Given the description of an element on the screen output the (x, y) to click on. 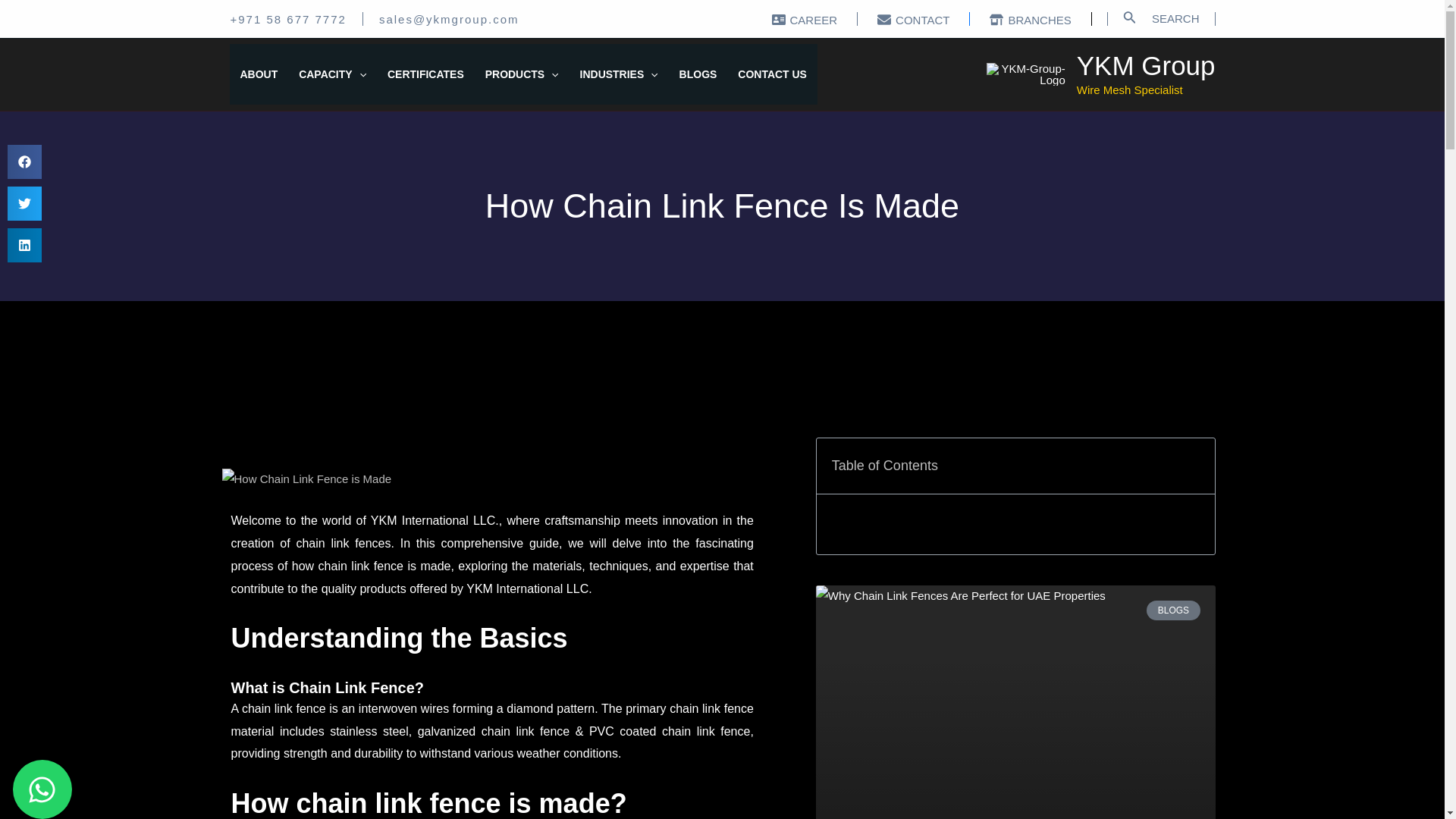
CERTIFICATES (425, 74)
CAREER (805, 19)
PRODUCTS (521, 74)
CAPACITY (332, 74)
BRANCHES (1030, 19)
CONTACT (912, 19)
ABOUT (258, 74)
